Given the description of an element on the screen output the (x, y) to click on. 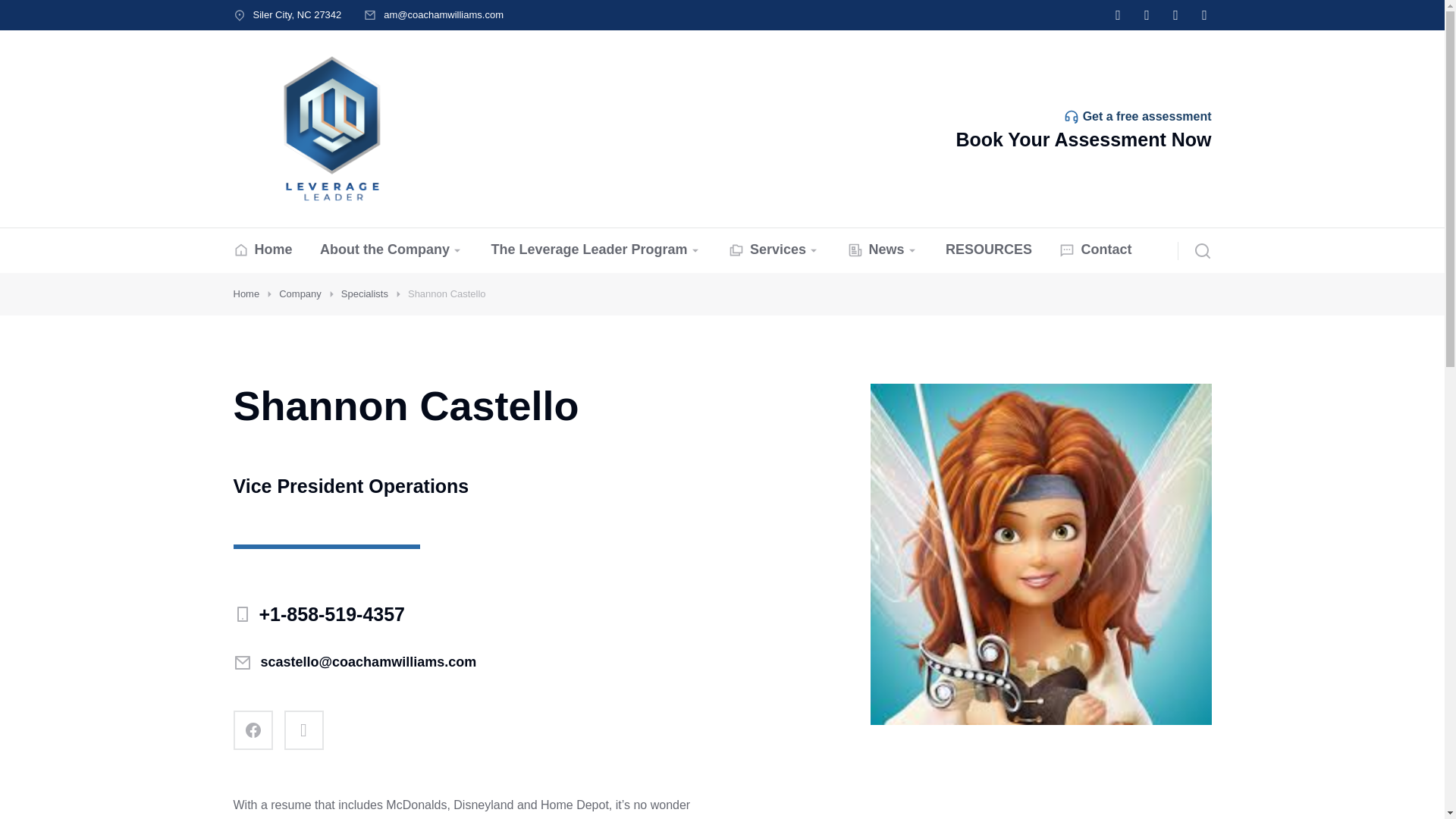
Get a free assessment (1147, 115)
About the Company (391, 249)
Home (262, 249)
Services (774, 249)
Book Your Assessment Now (1083, 138)
The Leverage Leader Program (595, 249)
Siler City, NC 27342 (297, 14)
